Given the description of an element on the screen output the (x, y) to click on. 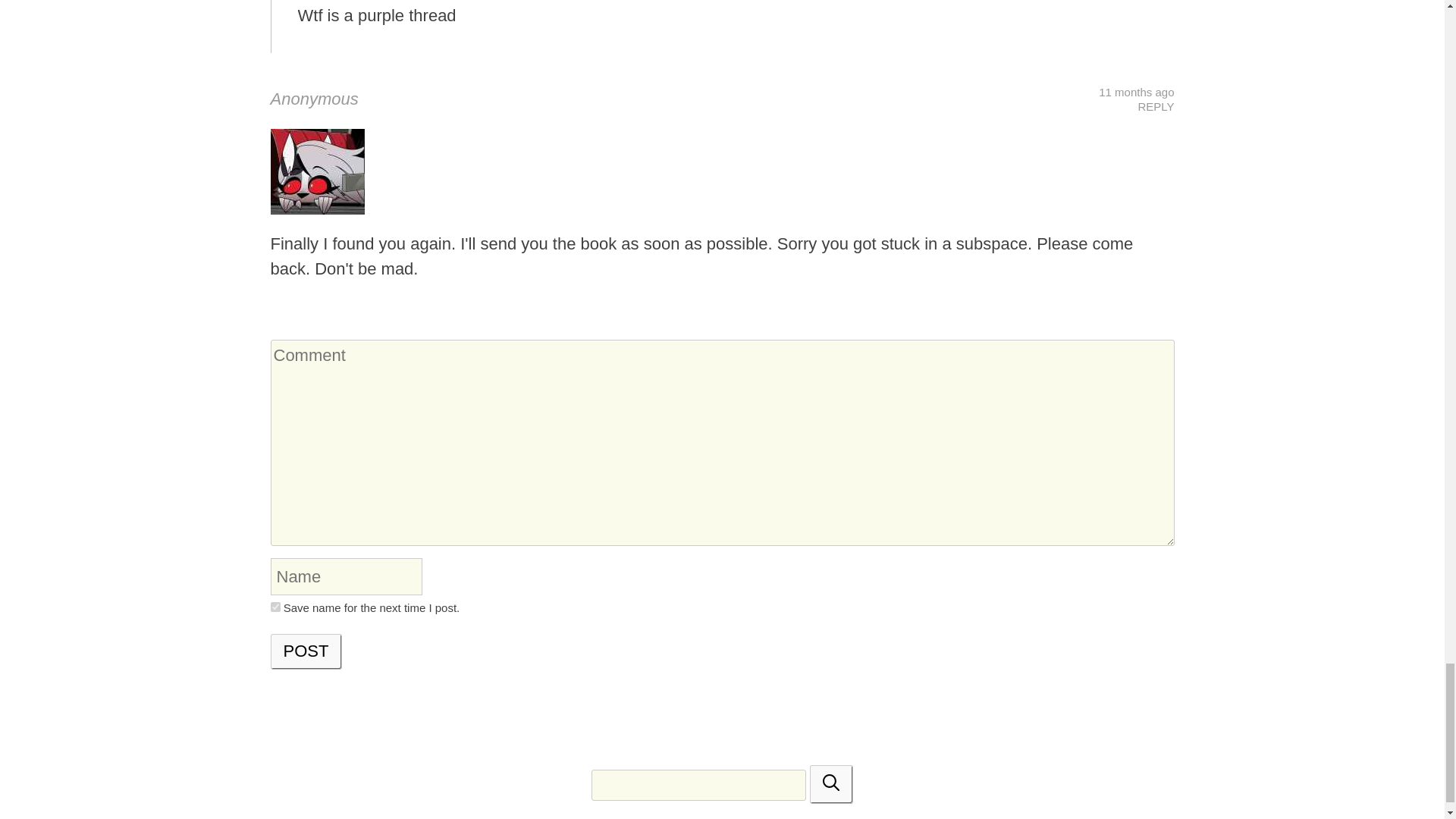
Post (305, 651)
Search for: (698, 784)
REPLY (1155, 106)
yes (274, 606)
Post (305, 651)
